Given the description of an element on the screen output the (x, y) to click on. 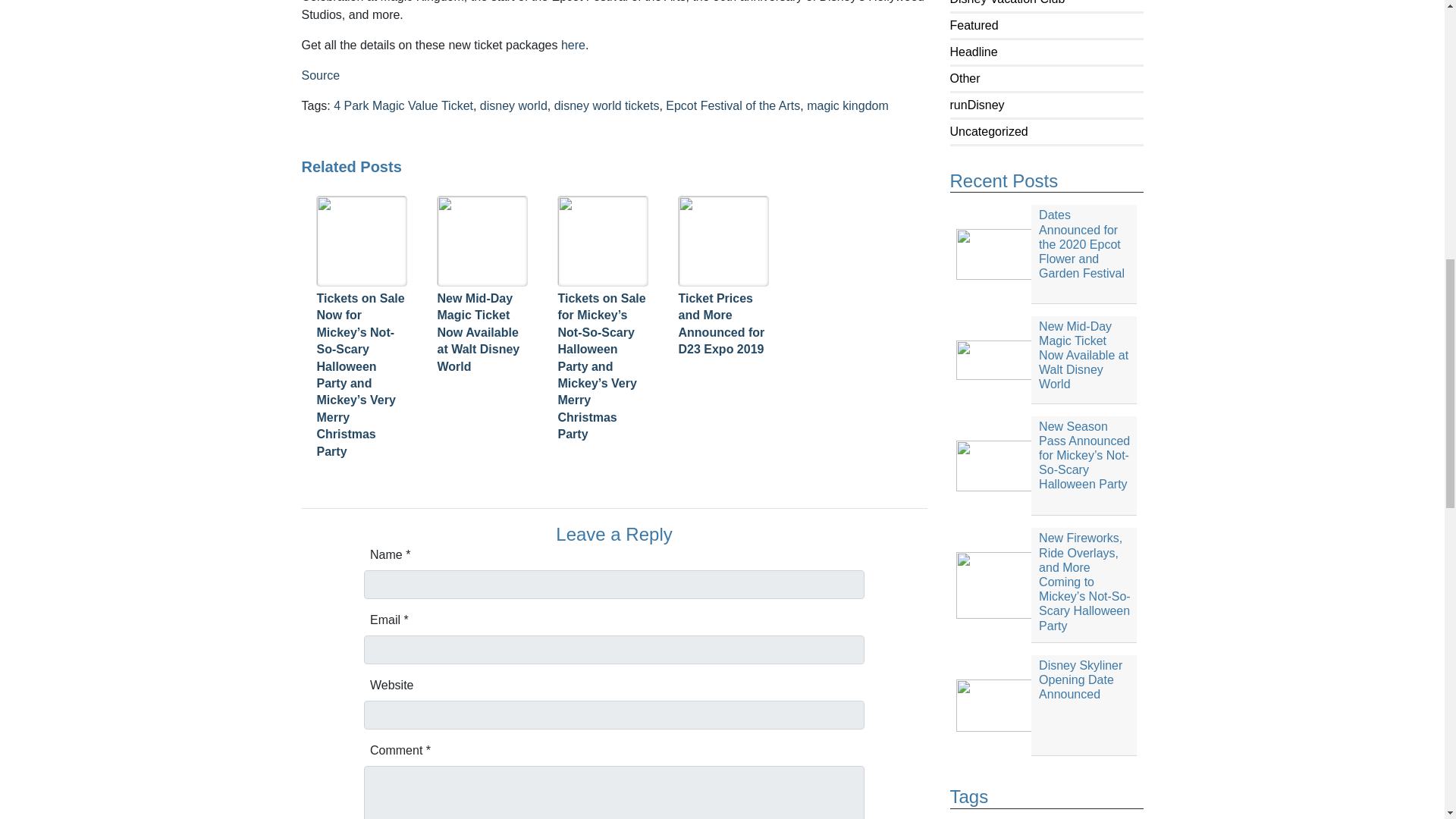
runDisney (976, 104)
New Mid-Day Magic Ticket Now Available at Walt Disney World (1046, 360)
Other (964, 78)
Headline (973, 51)
Disney Vacation Club (1006, 2)
New Mid-Day Magic Ticket Now Available at Walt Disney World (1046, 360)
Disney Skyliner Opening Date Announced (1046, 705)
Featured (973, 24)
